Given the description of an element on the screen output the (x, y) to click on. 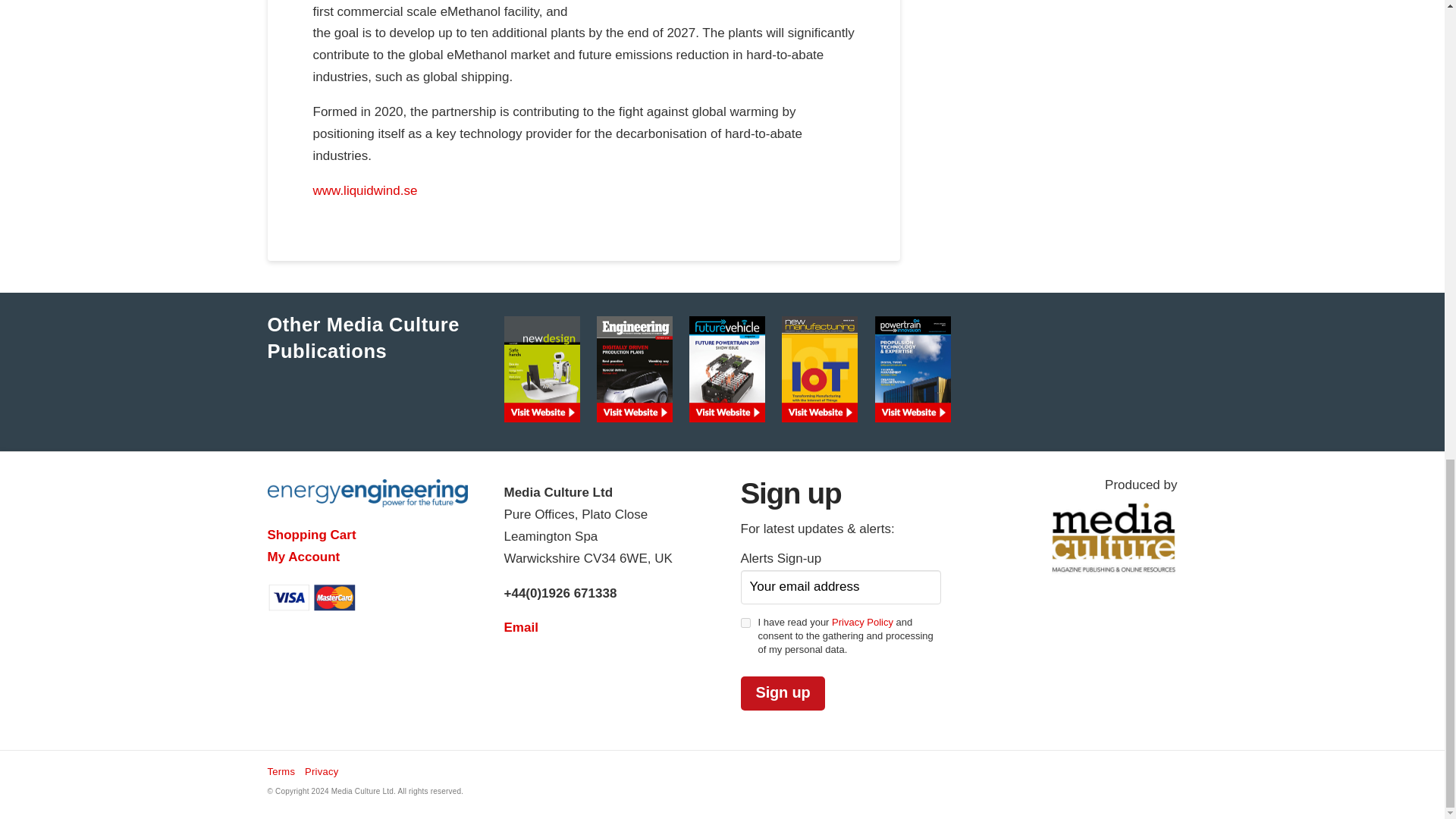
Email (520, 626)
Shopping Cart (310, 534)
Page 12 (583, 101)
Terms (280, 771)
My Account (302, 556)
Sign up (782, 693)
Sign up (782, 693)
www.liquidwind.se (364, 190)
Privacy Policy (862, 622)
